Given the description of an element on the screen output the (x, y) to click on. 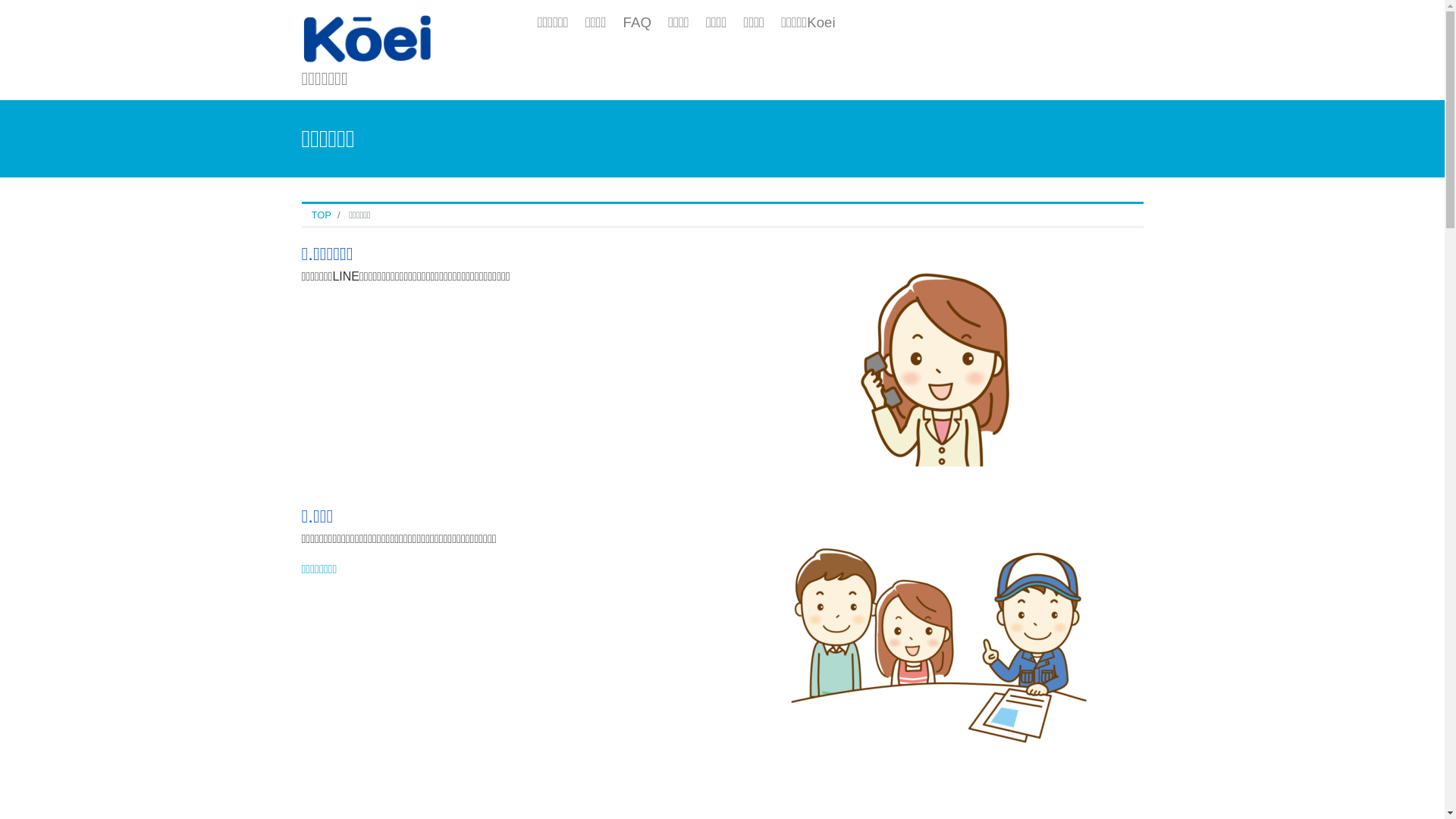
TOP Element type: text (320, 214)
FAQ Element type: text (636, 22)
